Given the description of an element on the screen output the (x, y) to click on. 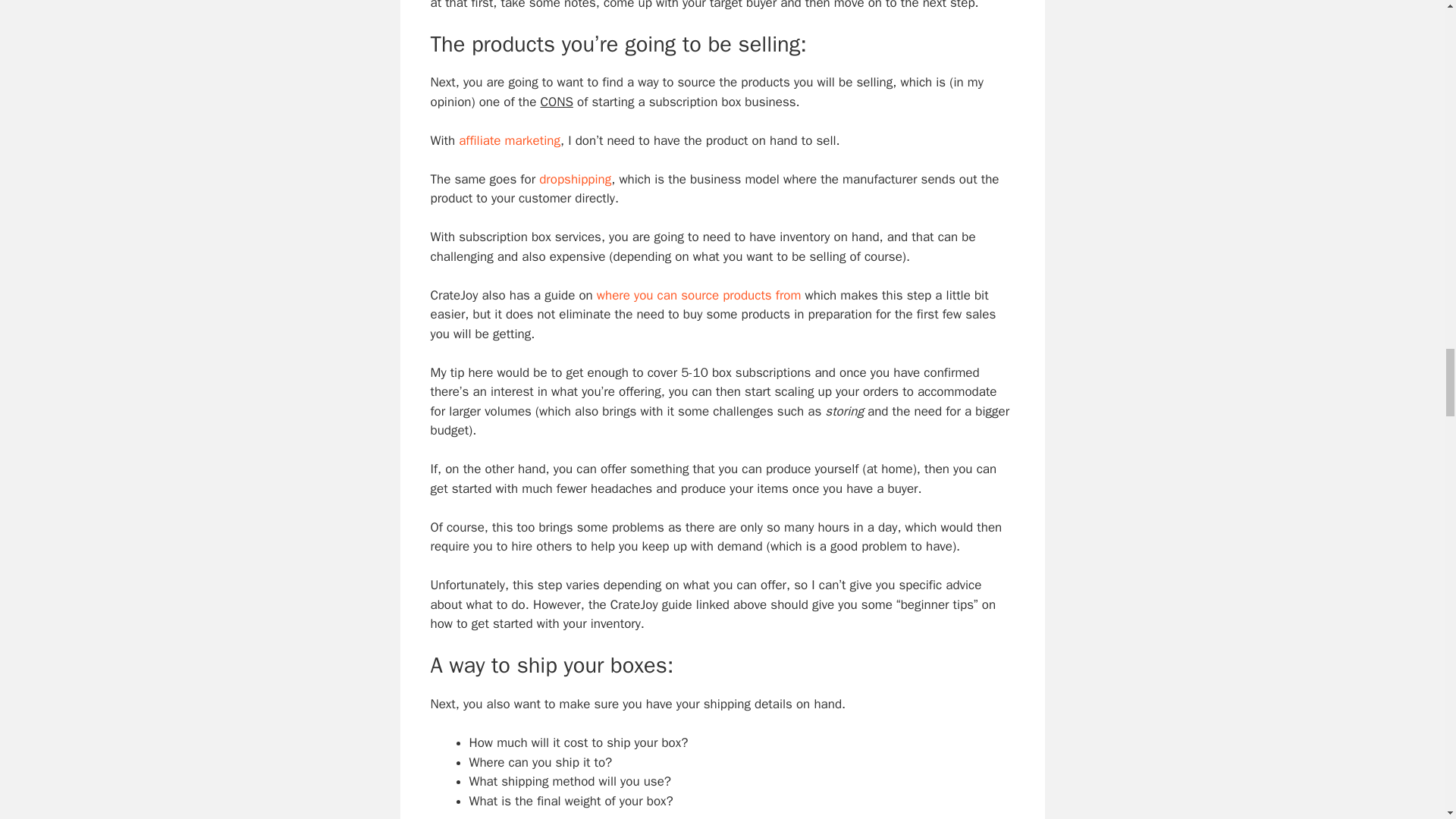
affiliate marketing (509, 140)
dropshipping (574, 179)
where you can source products from (699, 295)
